Given the description of an element on the screen output the (x, y) to click on. 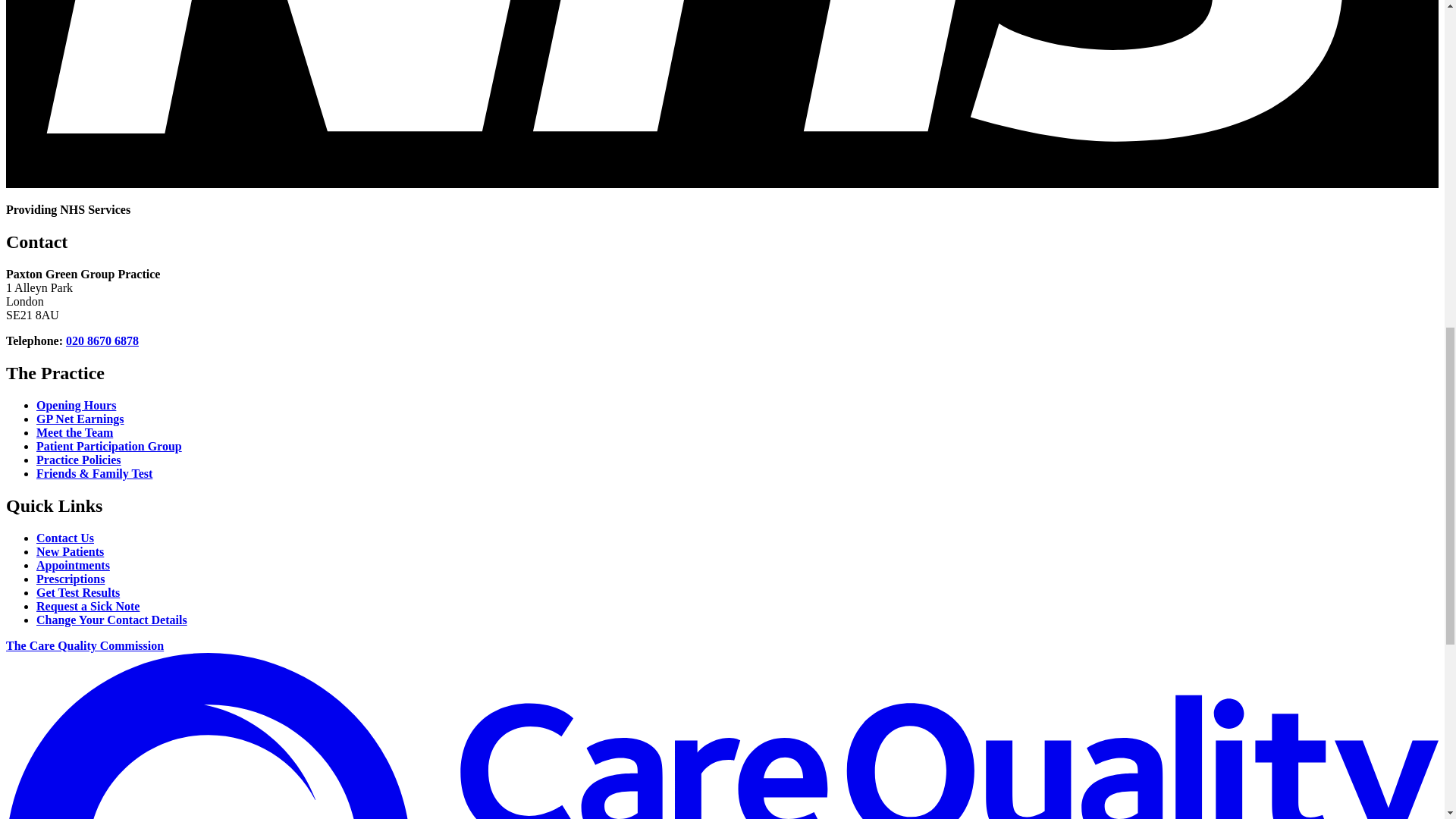
Meet the Team (74, 431)
020 8670 6878 (101, 340)
Prescriptions (70, 578)
Patient Participation Group (109, 445)
Practice Policies (78, 459)
Opening Hours (76, 404)
Get Test Results (77, 592)
GP Net Earnings (79, 418)
New Patients (69, 551)
Appointments (73, 564)
Change Your Contact Details (111, 619)
Request a Sick Note (87, 605)
Contact Us (65, 537)
